Given the description of an element on the screen output the (x, y) to click on. 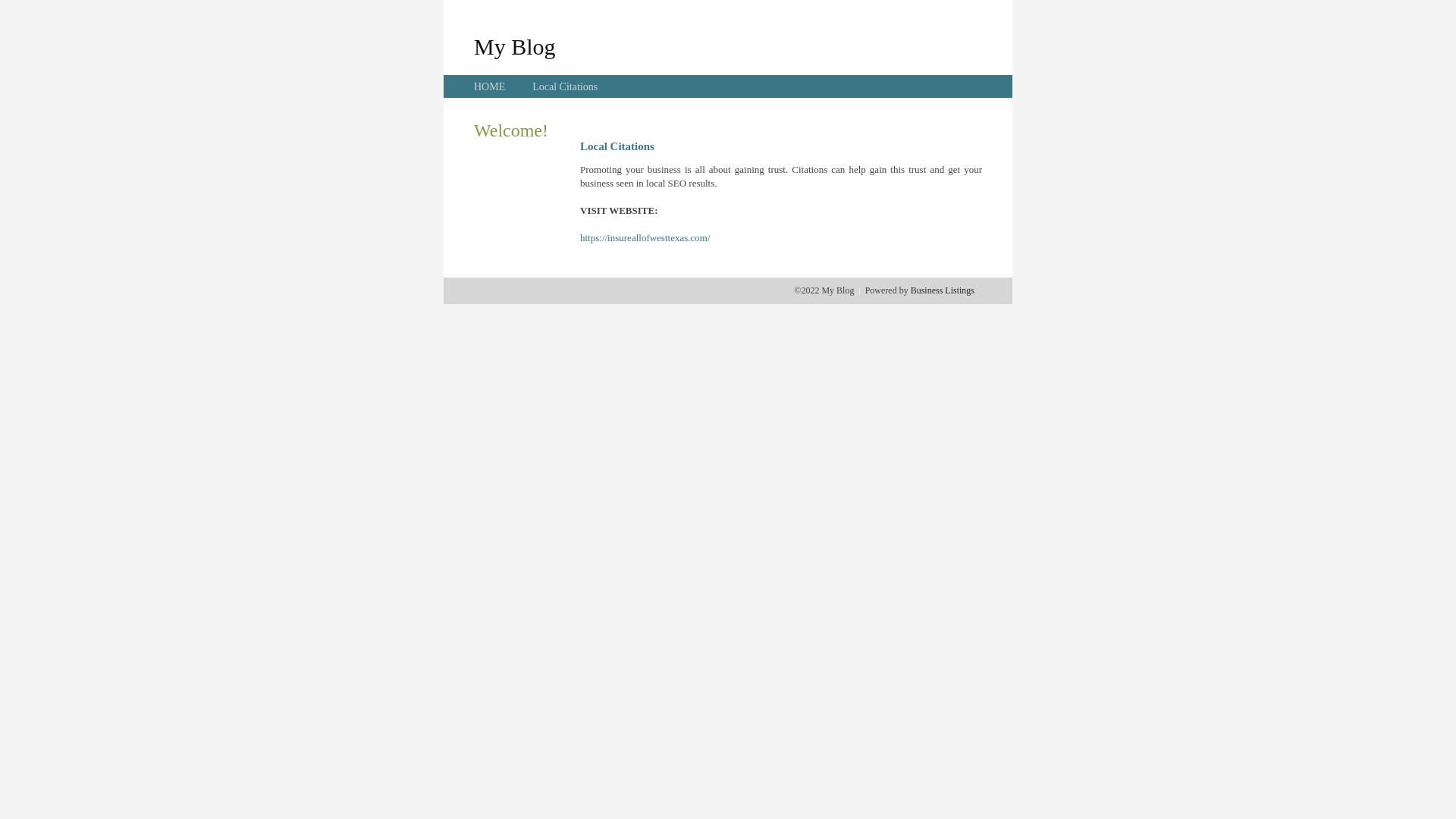
Local Citations Element type: text (564, 86)
My Blog Element type: text (514, 46)
Business Listings Element type: text (942, 290)
https://insureallofwesttexas.com/ Element type: text (645, 237)
HOME Element type: text (489, 86)
